Given the description of an element on the screen output the (x, y) to click on. 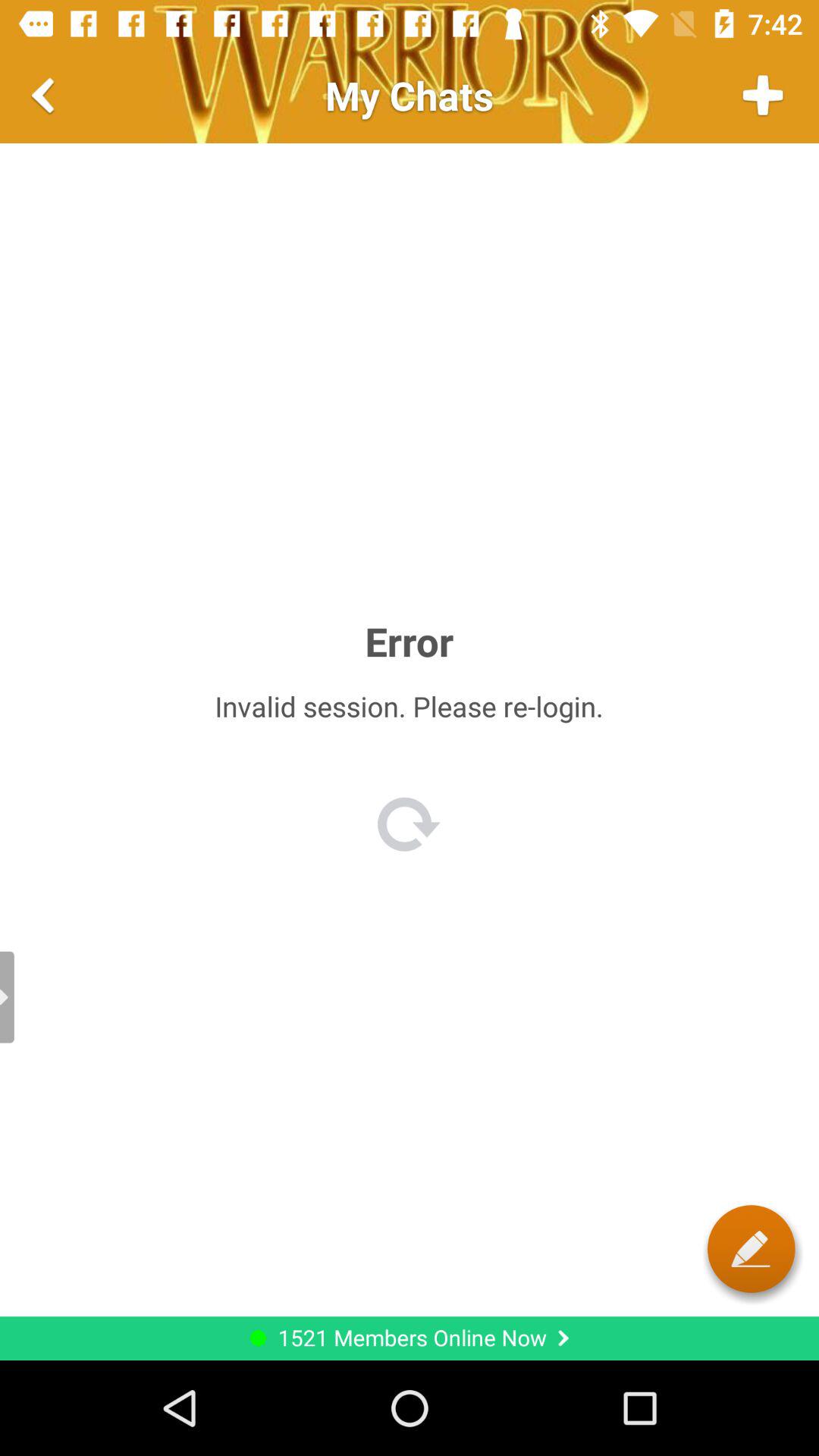
edit the chat (751, 1248)
